Given the description of an element on the screen output the (x, y) to click on. 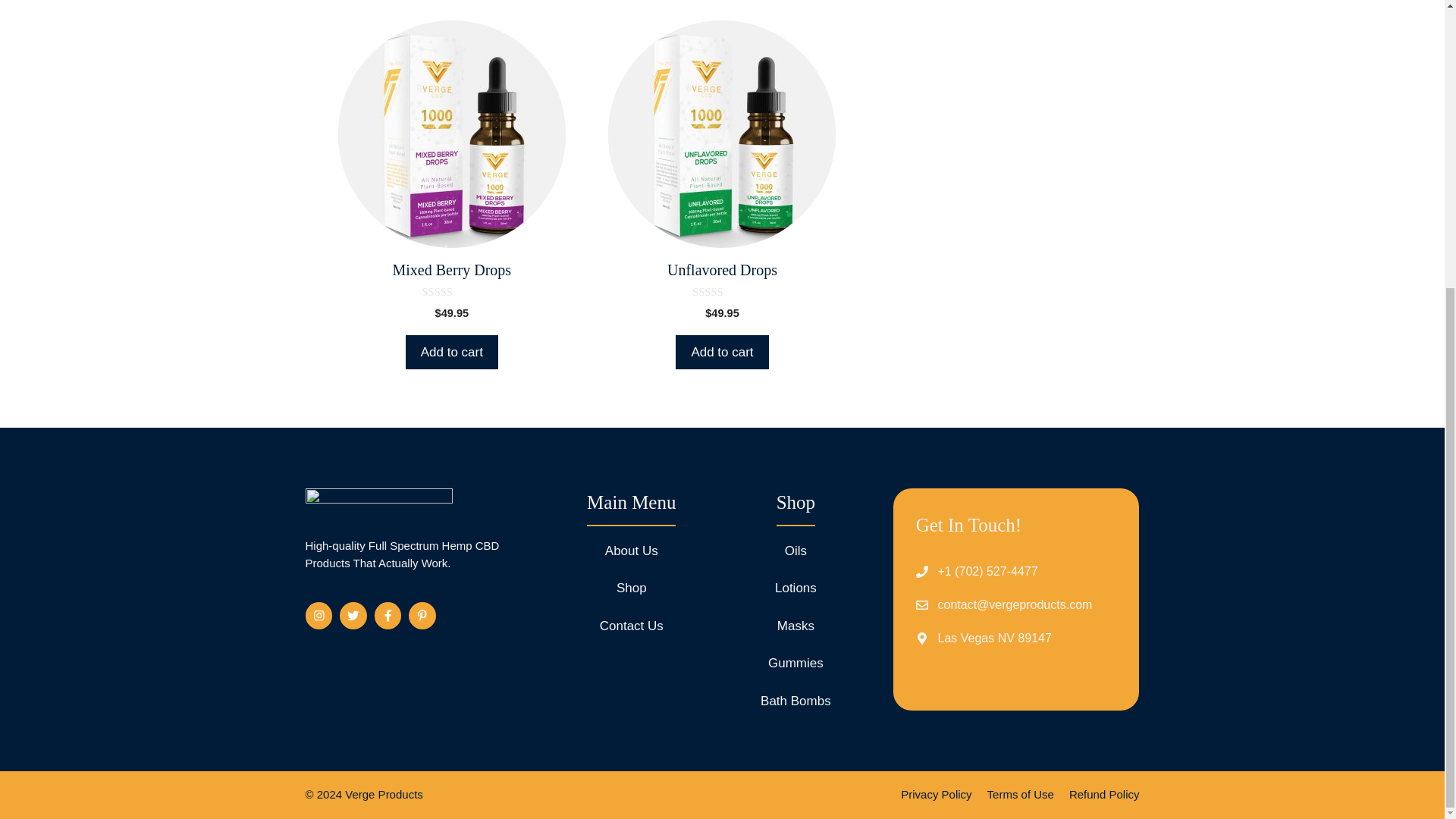
Not yet rated (722, 292)
Not yet rated (451, 292)
Add to cart (721, 352)
Verge CBD (377, 505)
Add to cart (451, 352)
